Given the description of an element on the screen output the (x, y) to click on. 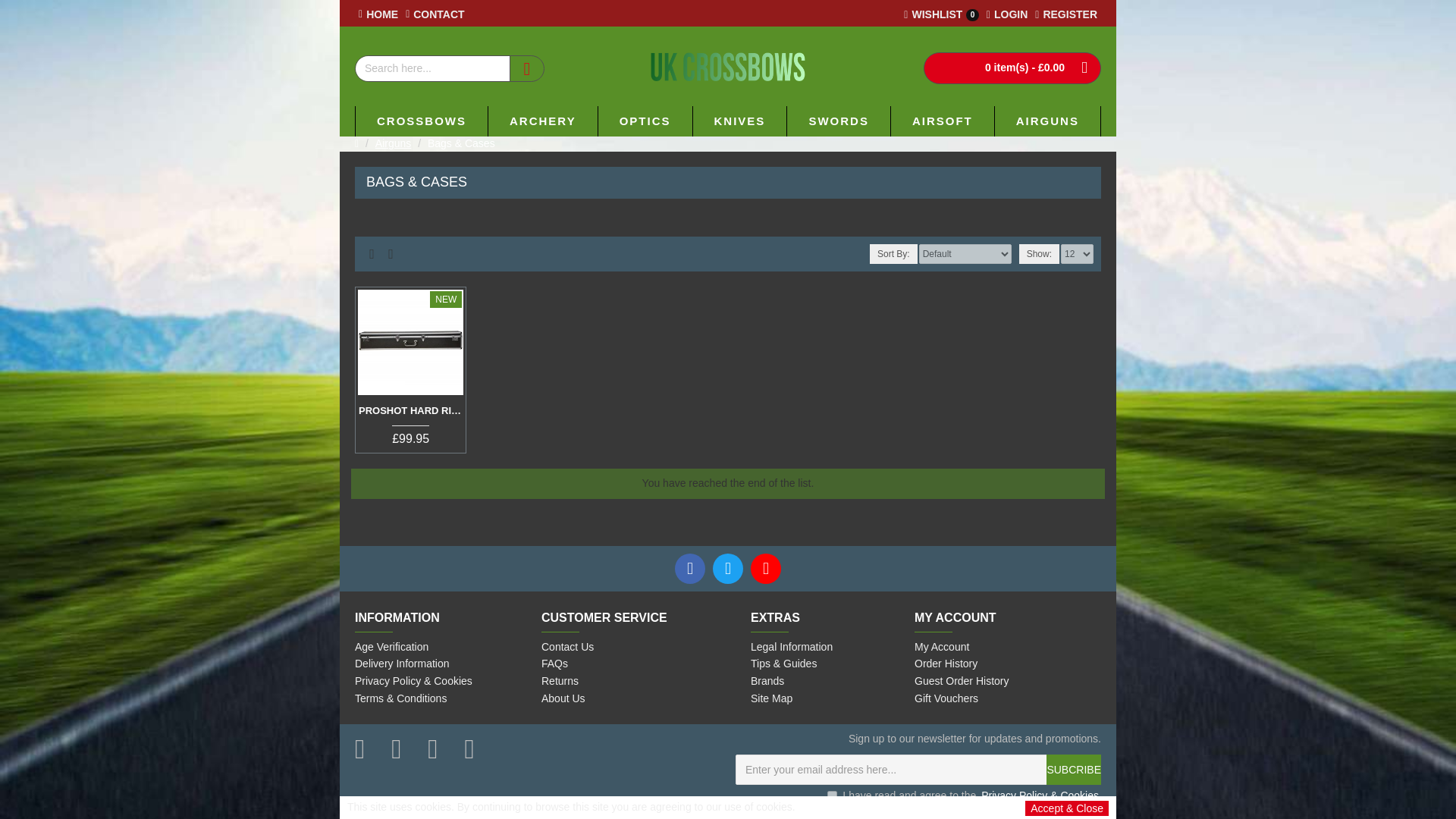
CROSSBOWS (940, 15)
HOME (421, 121)
REGISTER (378, 15)
Proshot Hard Rifle Case  (1065, 15)
KNIVES (410, 341)
CONTACT (740, 121)
1 (434, 15)
ARCHERY (832, 795)
UK Crossbows (541, 121)
LOGIN (727, 69)
OPTICS (1006, 15)
